Given the description of an element on the screen output the (x, y) to click on. 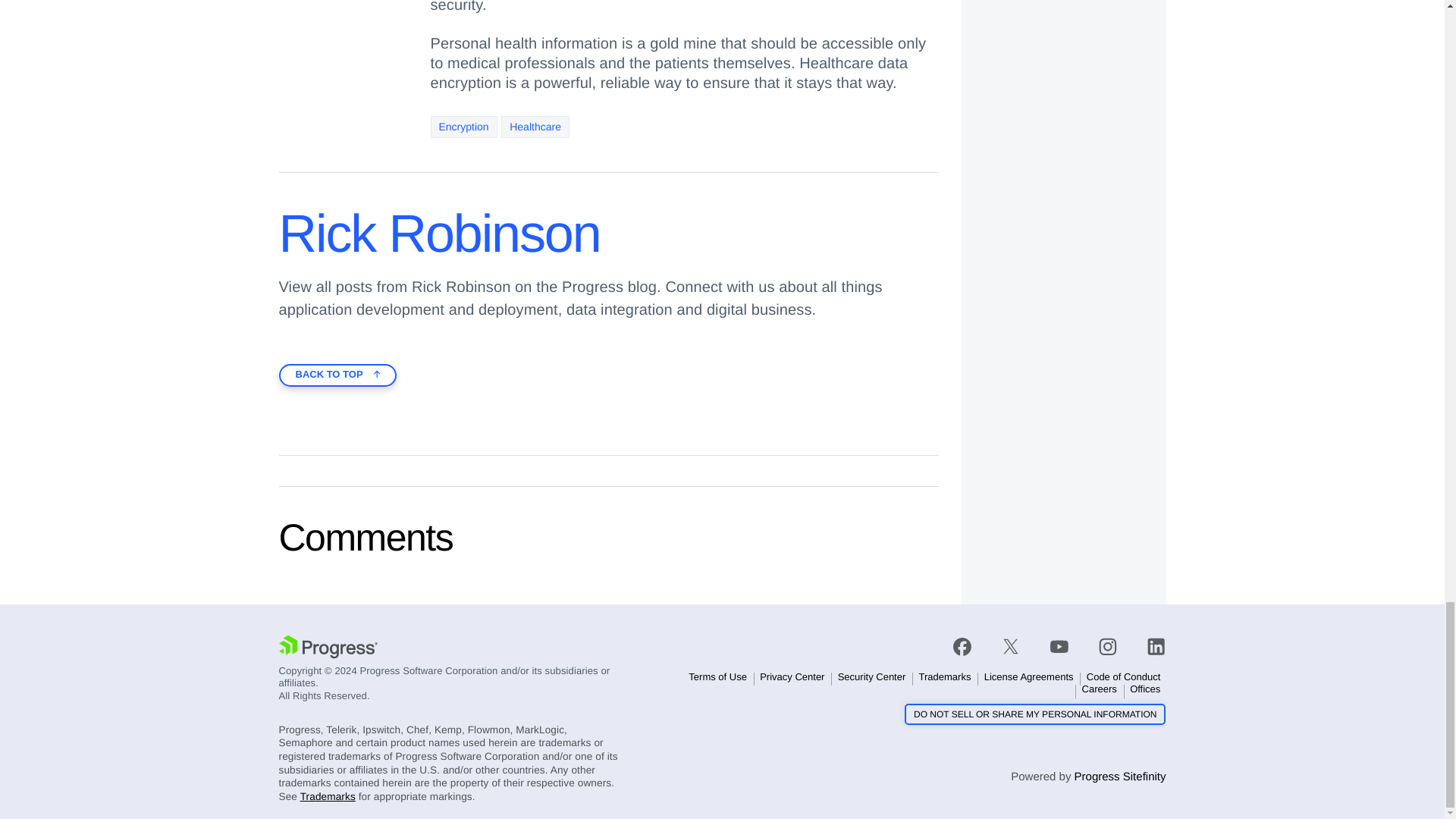
Progress (328, 646)
linkedin (1149, 645)
X (1011, 645)
instagram (1107, 645)
youtube (1059, 645)
Facebook (962, 647)
YouTube (1058, 647)
LinkedIn (1156, 647)
X (1010, 647)
Instagram (1107, 647)
facebook (970, 645)
